Given the description of an element on the screen output the (x, y) to click on. 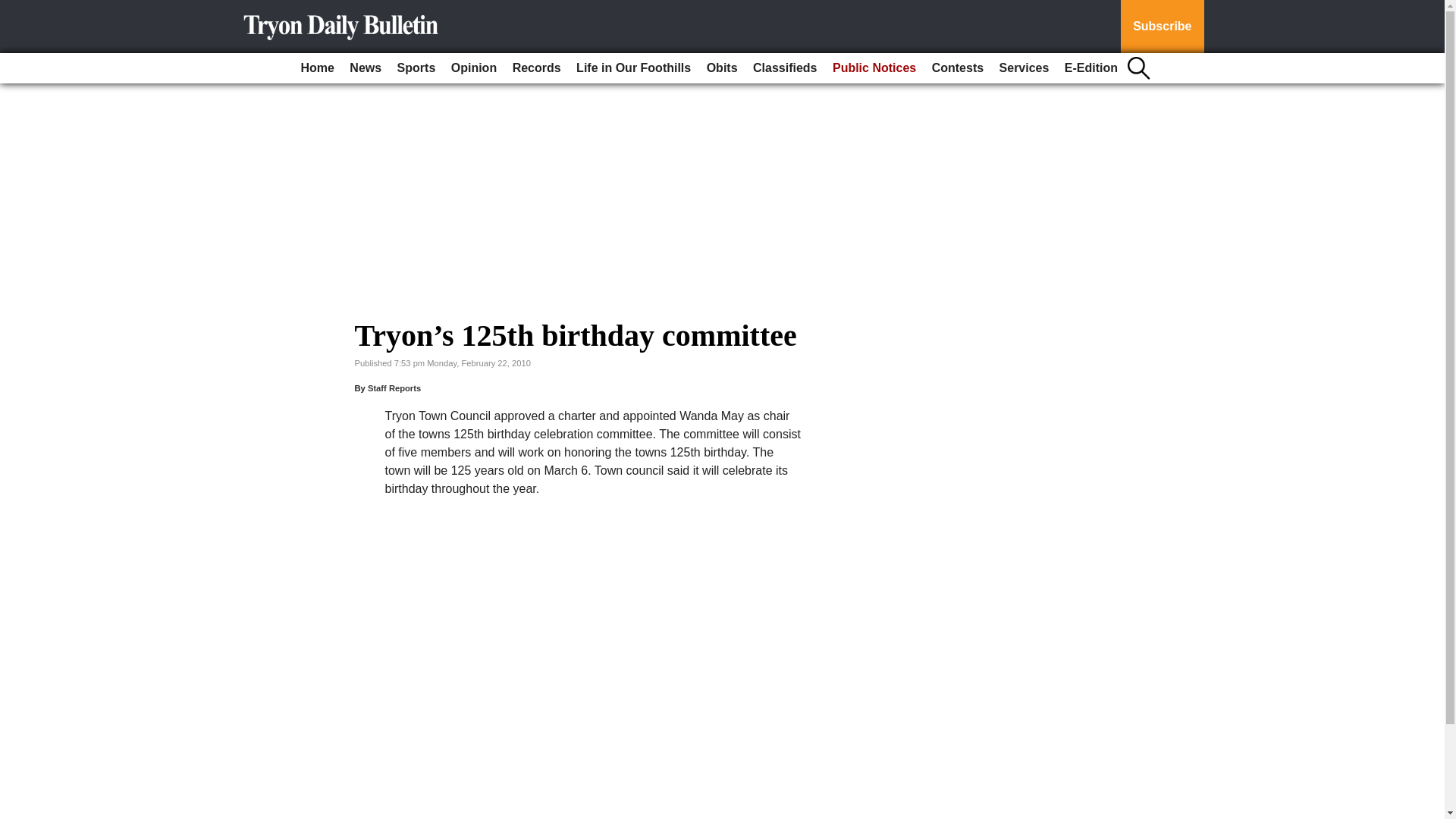
Contests (958, 68)
Services (1023, 68)
Classifieds (784, 68)
Obits (722, 68)
E-Edition (1091, 68)
Sports (416, 68)
News (365, 68)
Subscribe (1162, 26)
Life in Our Foothills (633, 68)
Records (536, 68)
